Given the description of an element on the screen output the (x, y) to click on. 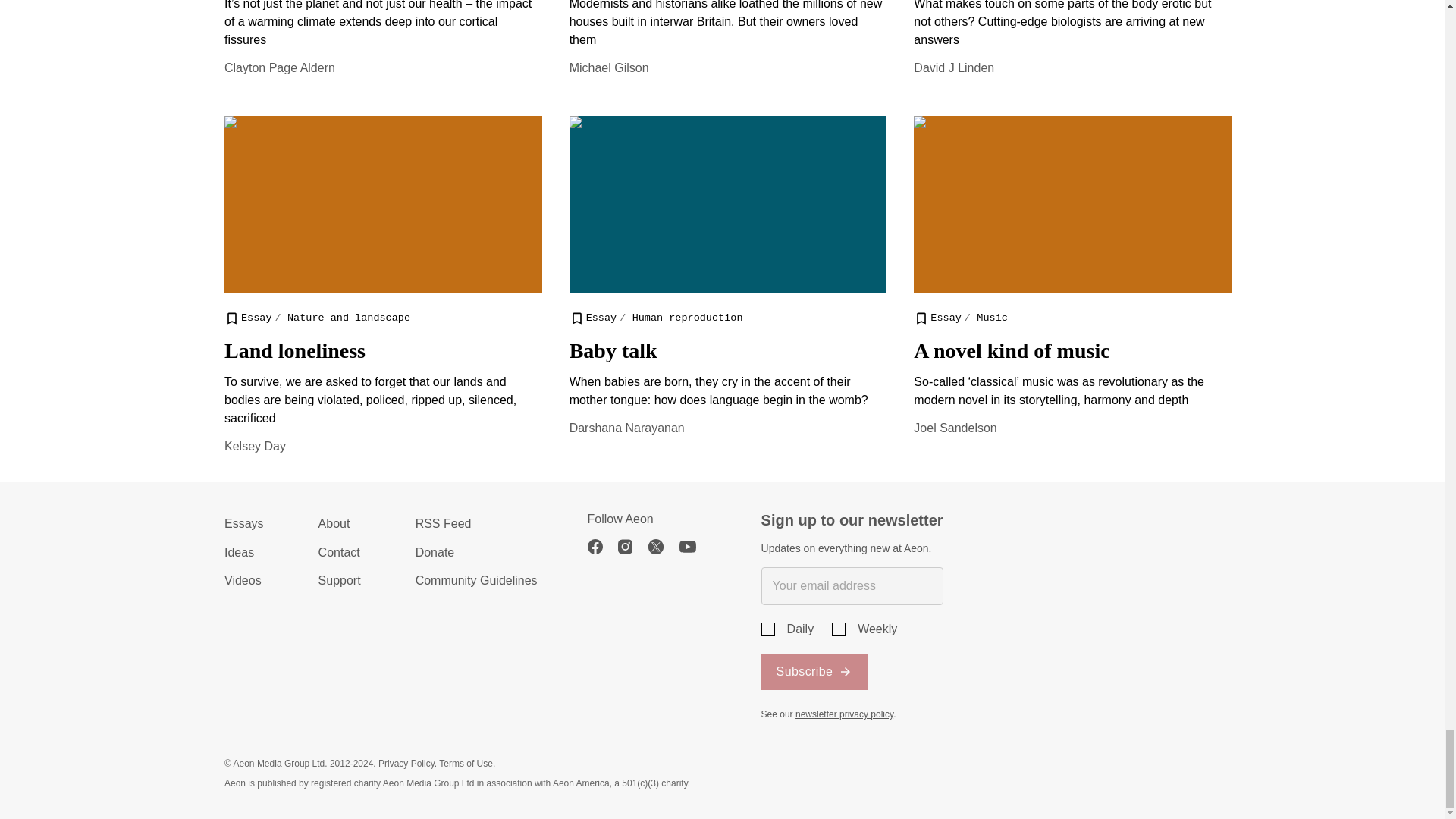
YouTube (695, 545)
Instagram (632, 545)
Facebook (602, 545)
